Given the description of an element on the screen output the (x, y) to click on. 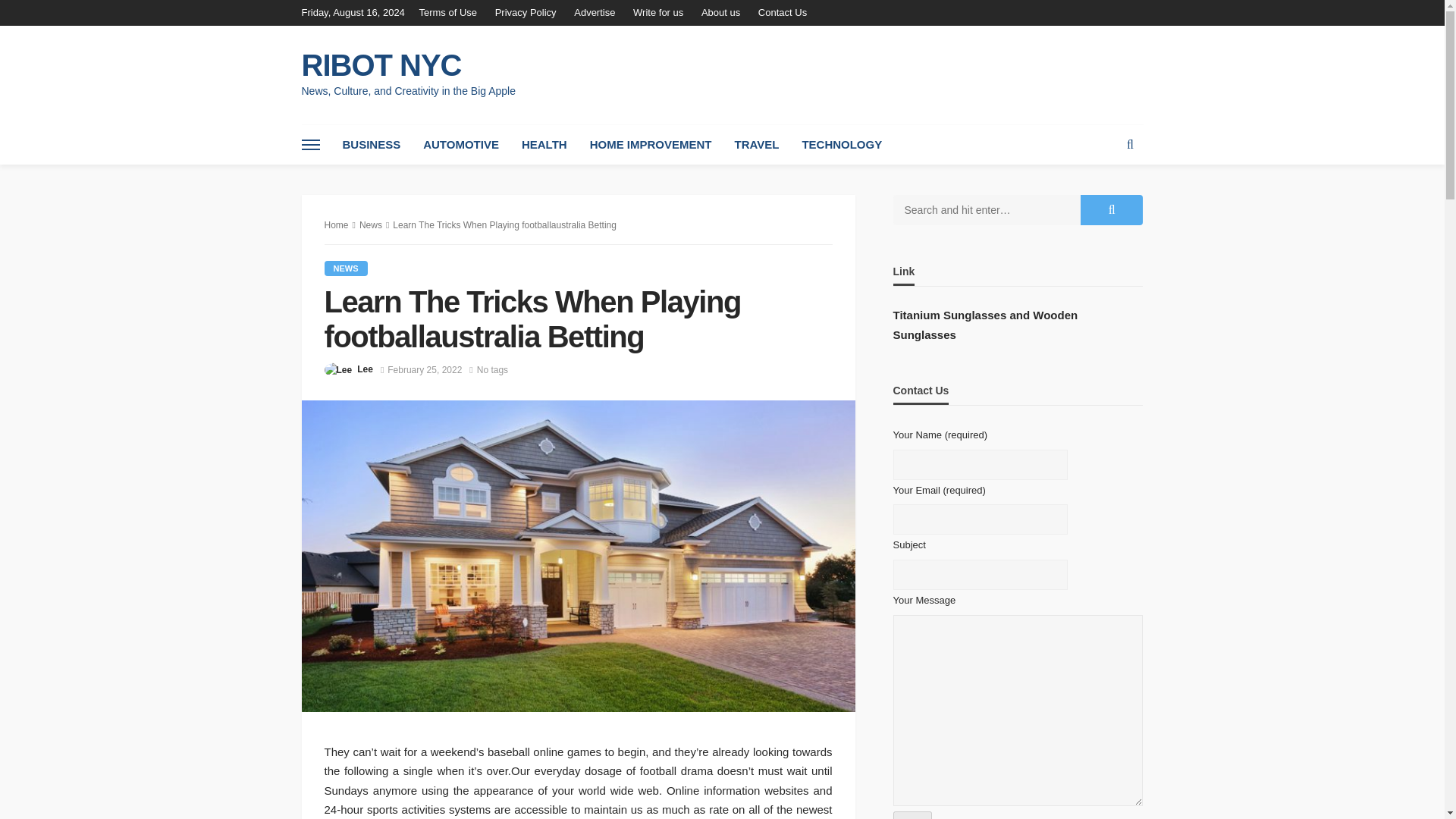
News (370, 225)
TRAVEL (756, 144)
BUSINESS (371, 144)
HEALTH (544, 144)
Terms of Use (451, 12)
Lee (364, 368)
Write for us (658, 12)
RIBOT NYC (408, 64)
Privacy Policy (525, 12)
About us (721, 12)
